Given the description of an element on the screen output the (x, y) to click on. 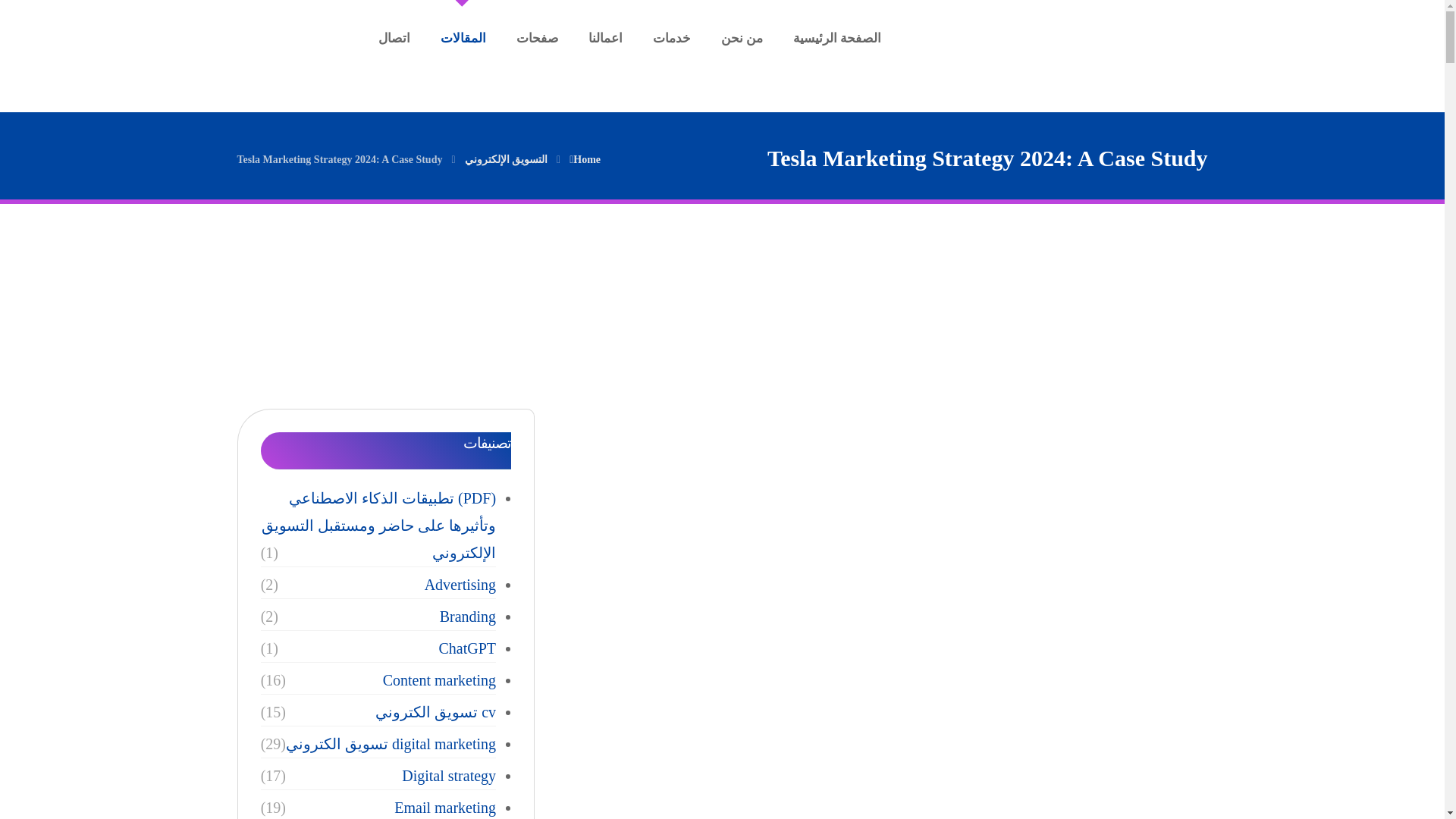
Tesla Marketing Strategy 2024: A Case Study (338, 158)
Home (584, 158)
